Given the description of an element on the screen output the (x, y) to click on. 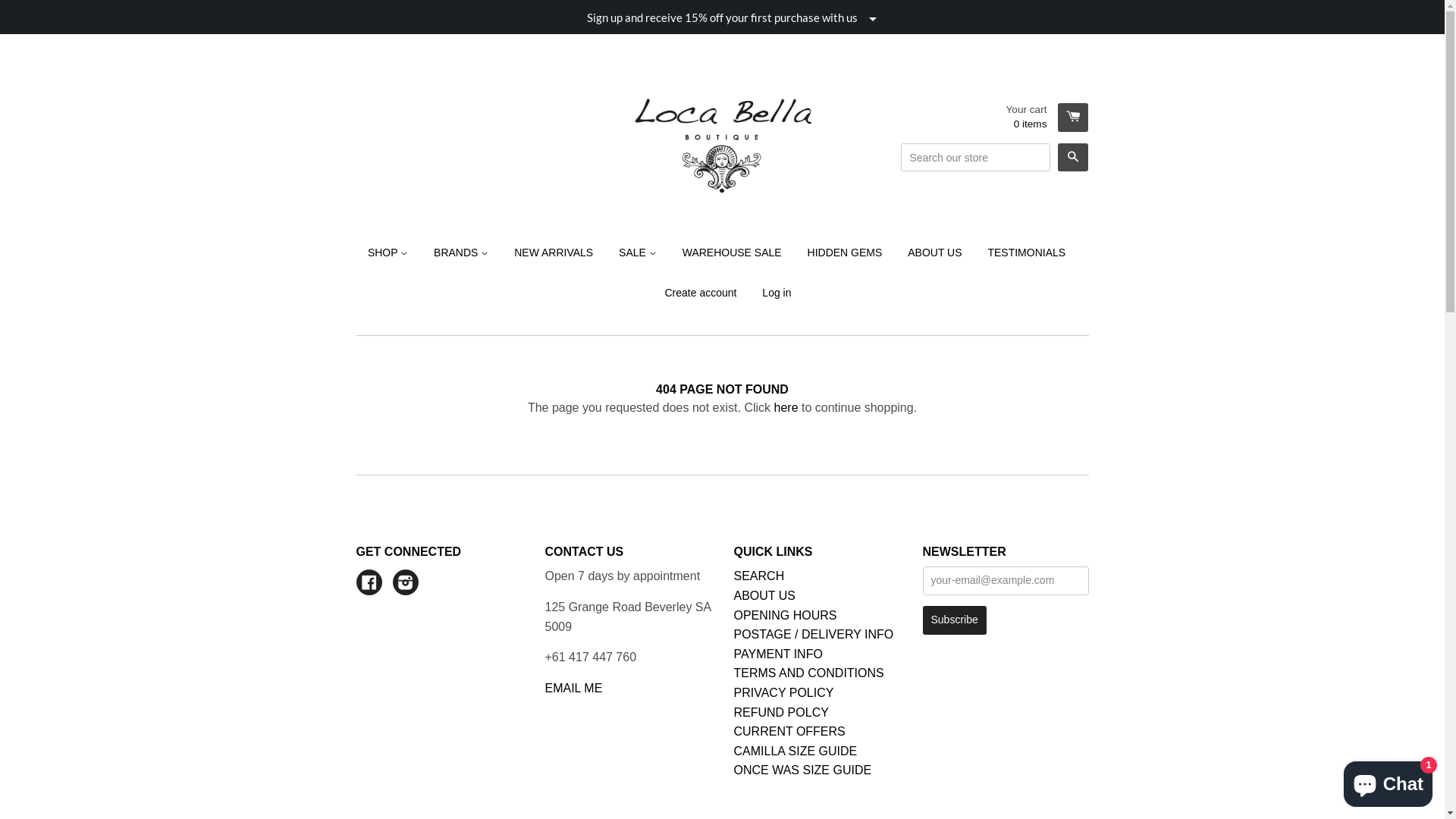
TESTIMONIALS Element type: text (1025, 252)
NEW ARRIVALS Element type: text (553, 252)
ABOUT US Element type: text (765, 595)
Facebook Element type: text (369, 583)
POSTAGE / DELIVERY INFO Element type: text (814, 633)
Log in Element type: text (770, 292)
WAREHOUSE SALE Element type: text (732, 252)
CAMILLA SIZE GUIDE Element type: text (795, 750)
Search Element type: text (1072, 157)
BRANDS Element type: text (460, 252)
PRIVACY POLICY Element type: text (784, 692)
Your cart
0 items Element type: text (1047, 117)
Subscribe Element type: text (953, 619)
Instagram Element type: text (405, 583)
OPENING HOURS Element type: text (785, 614)
EMAIL ME Element type: text (573, 687)
TERMS AND CONDITIONS Element type: text (809, 672)
ABOUT US Element type: text (934, 252)
PAYMENT INFO Element type: text (778, 653)
CURRENT OFFERS Element type: text (789, 730)
Create account Element type: text (700, 292)
SEARCH Element type: text (759, 575)
REFUND POLCY Element type: text (781, 711)
here Element type: text (786, 407)
HIDDEN GEMS Element type: text (845, 252)
Shopify online store chat Element type: hover (1388, 780)
SHOP Element type: text (393, 252)
ONCE WAS SIZE GUIDE Element type: text (803, 769)
SALE Element type: text (637, 252)
